Given the description of an element on the screen output the (x, y) to click on. 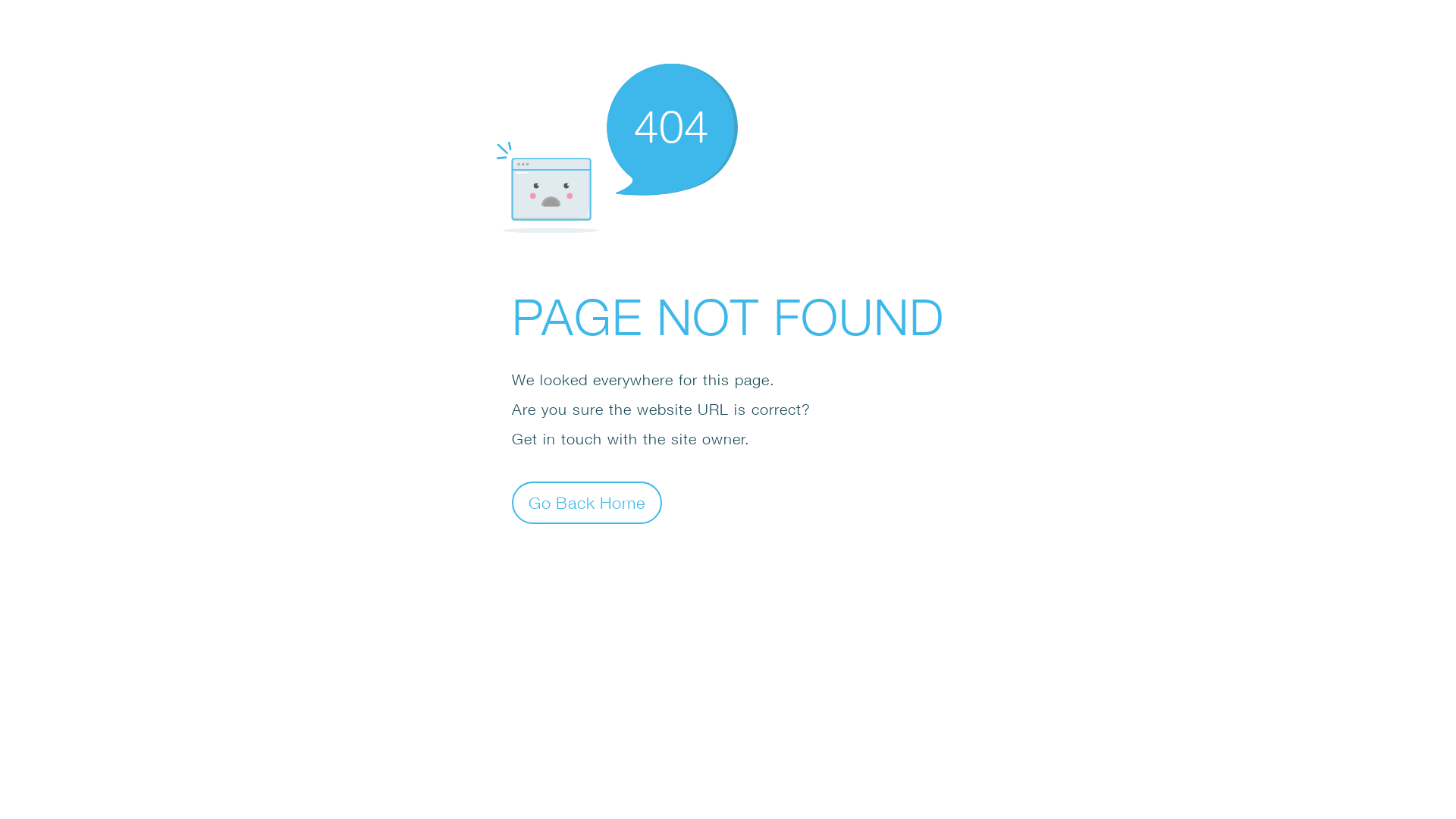
Go Back Home Element type: text (586, 502)
